Given the description of an element on the screen output the (x, y) to click on. 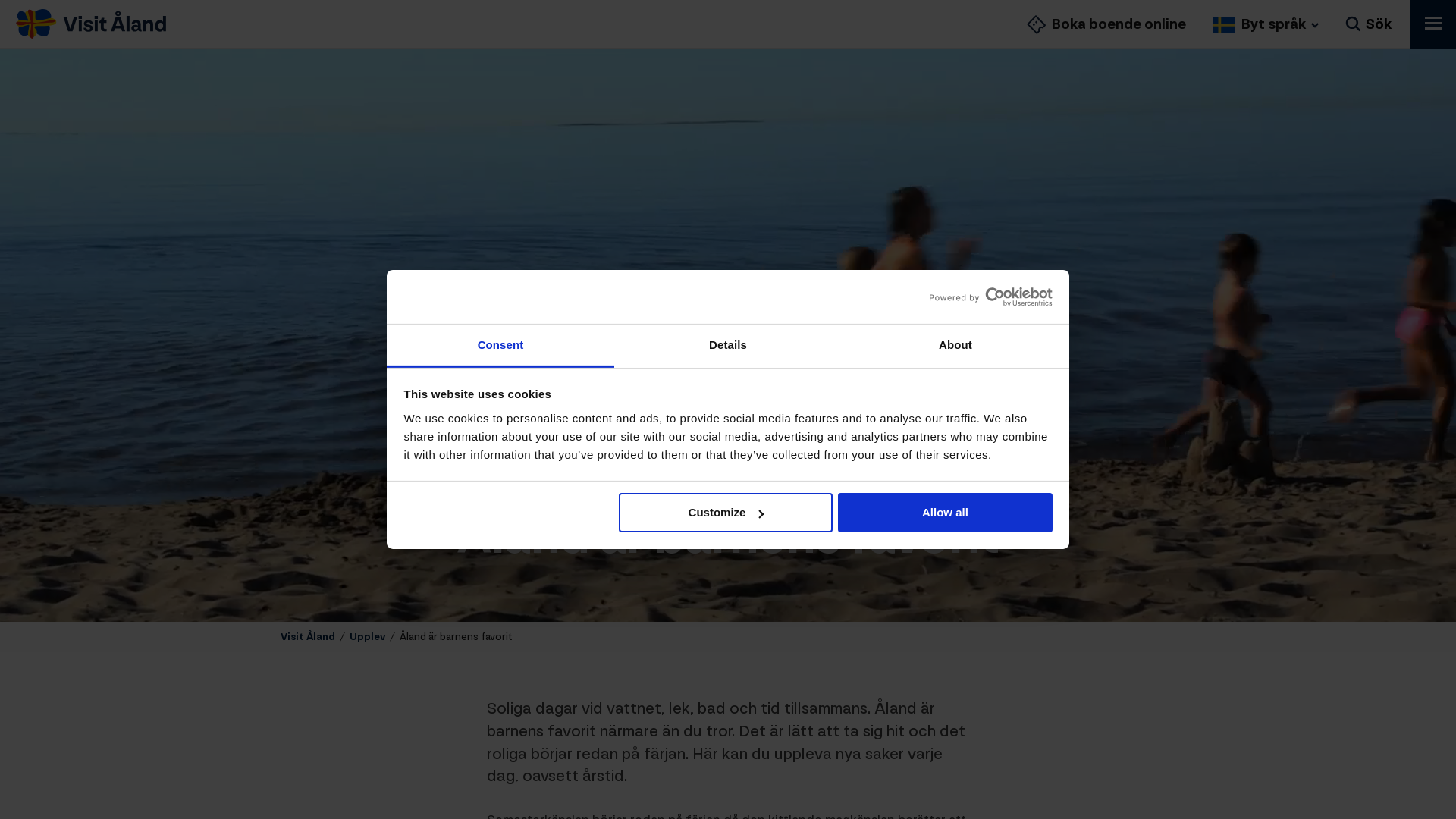
Allow all Element type: text (944, 511)
Customize Element type: text (725, 511)
Boka boende online Element type: text (1106, 24)
Details Element type: text (727, 345)
Upplev Element type: text (367, 636)
About Element type: text (955, 345)
Consent Element type: text (500, 345)
